Given the description of an element on the screen output the (x, y) to click on. 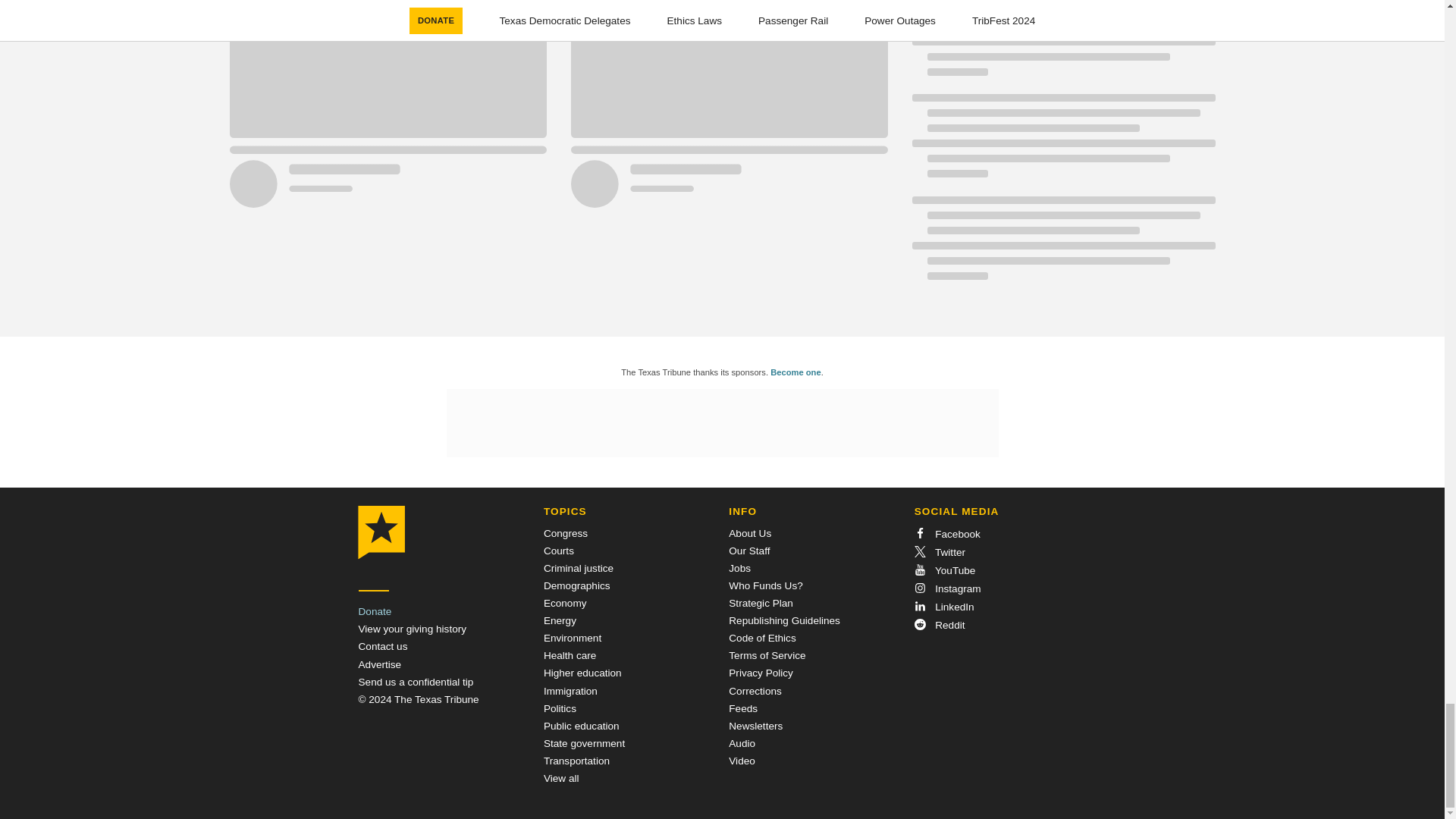
Terms of Service (767, 655)
Send a Tip (415, 681)
Contact us (382, 645)
Audio (742, 743)
Code of Ethics (761, 637)
View your giving history (411, 628)
Advertise (379, 663)
Who Funds Us? (765, 585)
Donate (374, 611)
Republishing Guidelines (784, 620)
Feeds (743, 708)
Newsletters (756, 726)
Strategic Plan (761, 603)
Privacy Policy (761, 672)
About Us (750, 532)
